Given the description of an element on the screen output the (x, y) to click on. 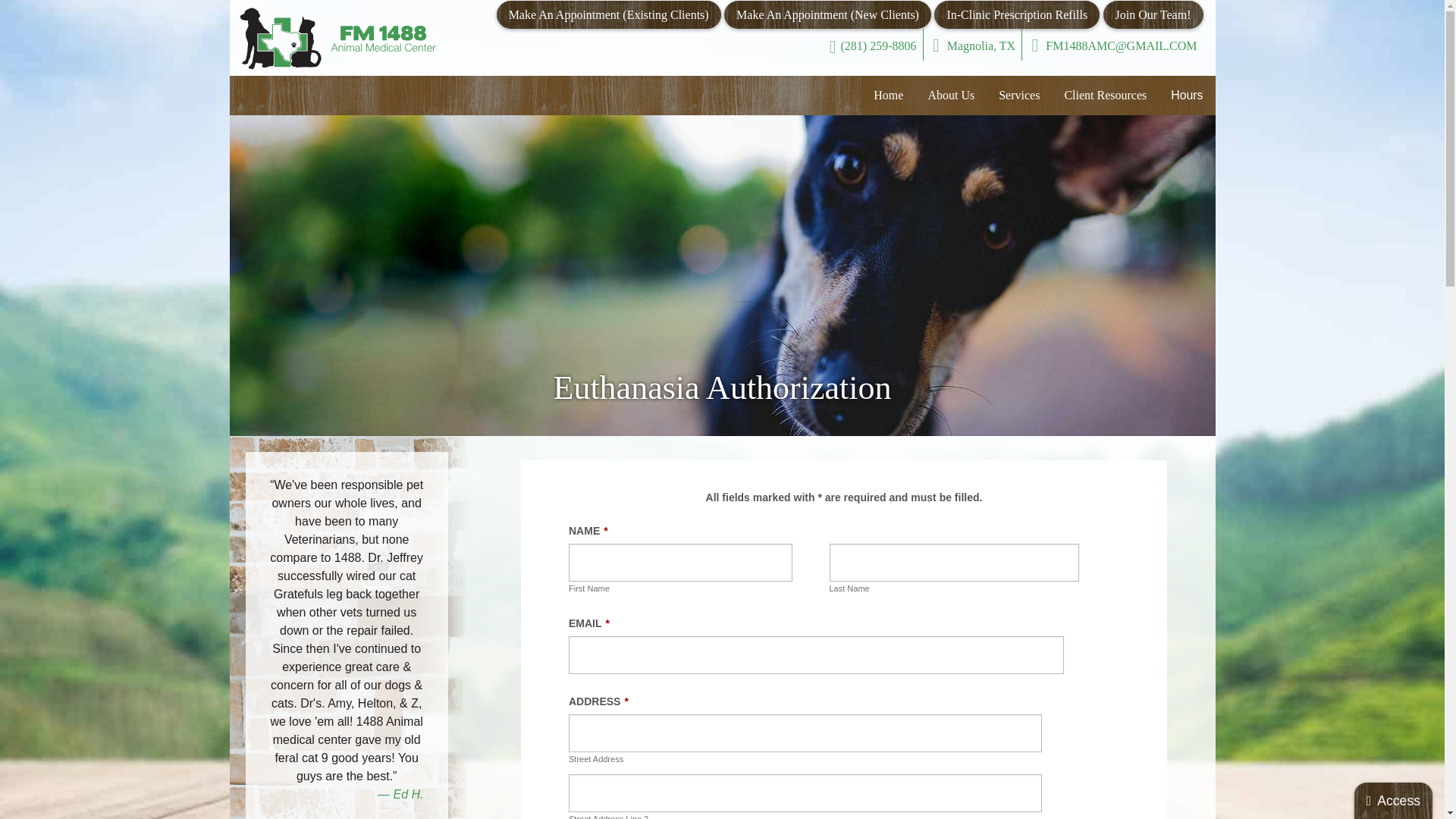
About Us Element type: text (950, 95)
Playful Puppy Element type: hover (721, 275)
Make An Appointment (Existing Clients) Element type: text (608, 14)
Join Our Team! Element type: text (1153, 14)
Home Element type: text (888, 95)
Hours Element type: text (1186, 95)
Make An Appointment (New Clients) Element type: text (827, 14)
Client Resources Element type: text (1104, 95)
Magnolia, TX Element type: text (973, 44)
In-Clinic Prescription Refills Element type: text (1016, 14)
FM1488AMC@GMAIL.COM Element type: text (1114, 44)
FM 1488 Animal Medical Center Element type: hover (338, 38)
Services Element type: text (1018, 95)
FM 1488 Animal Medical Center Element type: text (338, 38)
